Given the description of an element on the screen output the (x, y) to click on. 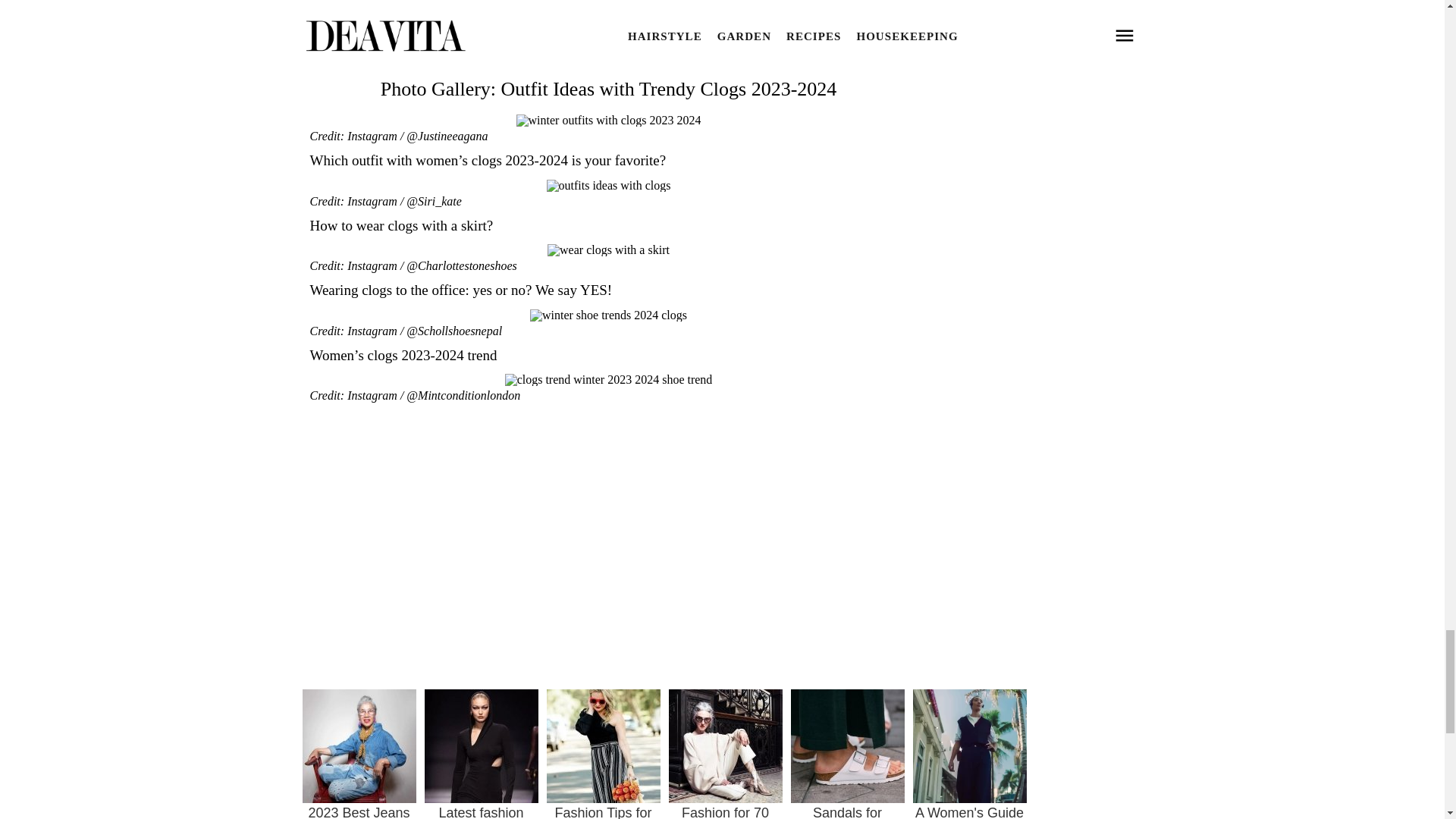
Winter outfits with clogs 2023 2024 (607, 120)
Outfits ideas with clogs (607, 185)
Wear clogs with a skirt (608, 250)
